Given the description of an element on the screen output the (x, y) to click on. 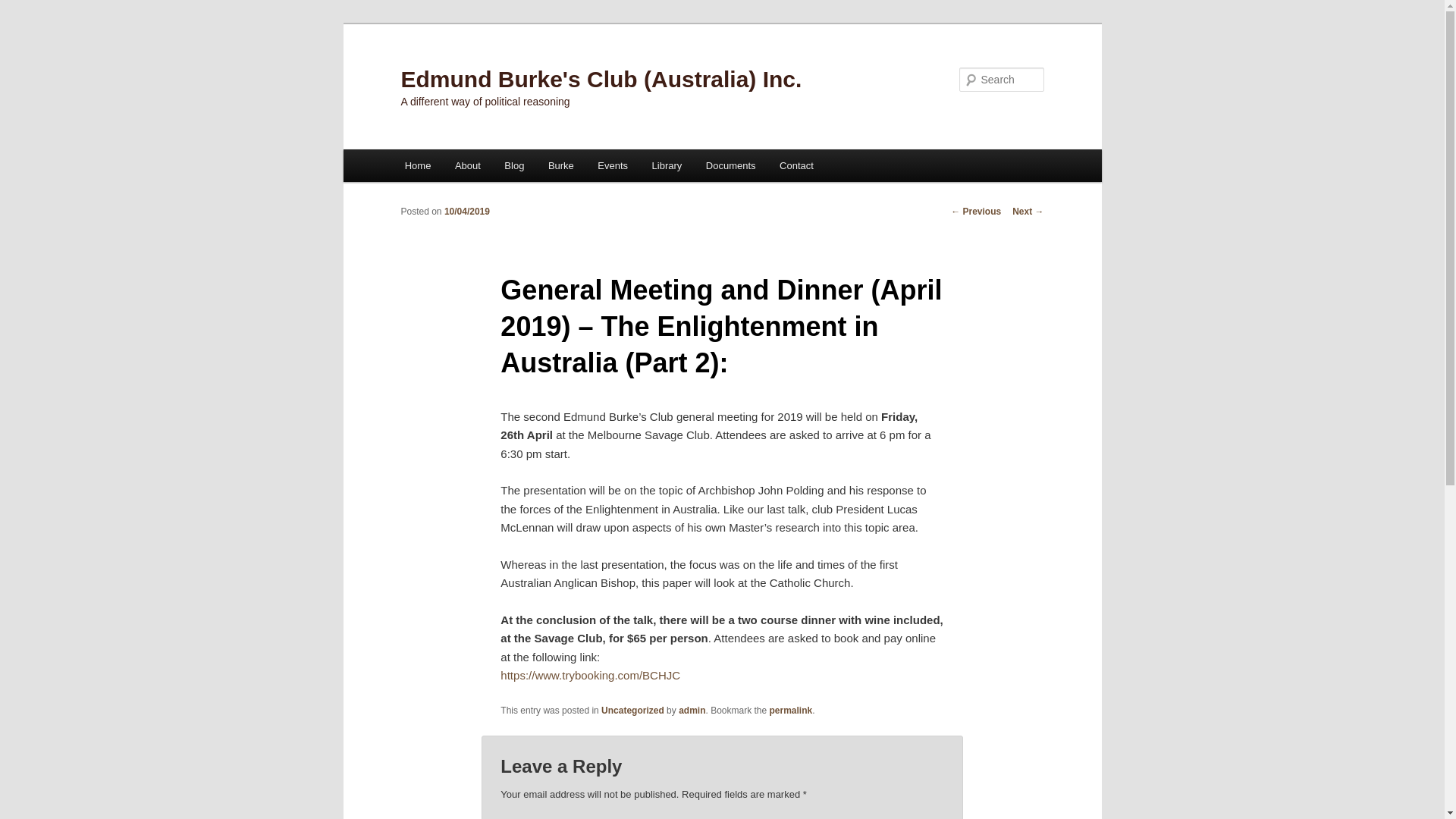
https://www.trybooking.com/BCHJC Element type: text (590, 674)
Library Element type: text (666, 165)
Documents Element type: text (730, 165)
permalink Element type: text (790, 710)
About Element type: text (467, 165)
Home Element type: text (417, 165)
Burke Element type: text (560, 165)
admin Element type: text (691, 710)
Contact Element type: text (796, 165)
Uncategorized Element type: text (632, 710)
Edmund Burke's Club (Australia) Inc. Element type: text (600, 78)
Blog Element type: text (514, 165)
Events Element type: text (613, 165)
Search Element type: text (24, 8)
Skip to secondary content Element type: text (479, 168)
10/04/2019 Element type: text (466, 211)
Skip to primary content Element type: text (472, 168)
